Given the description of an element on the screen output the (x, y) to click on. 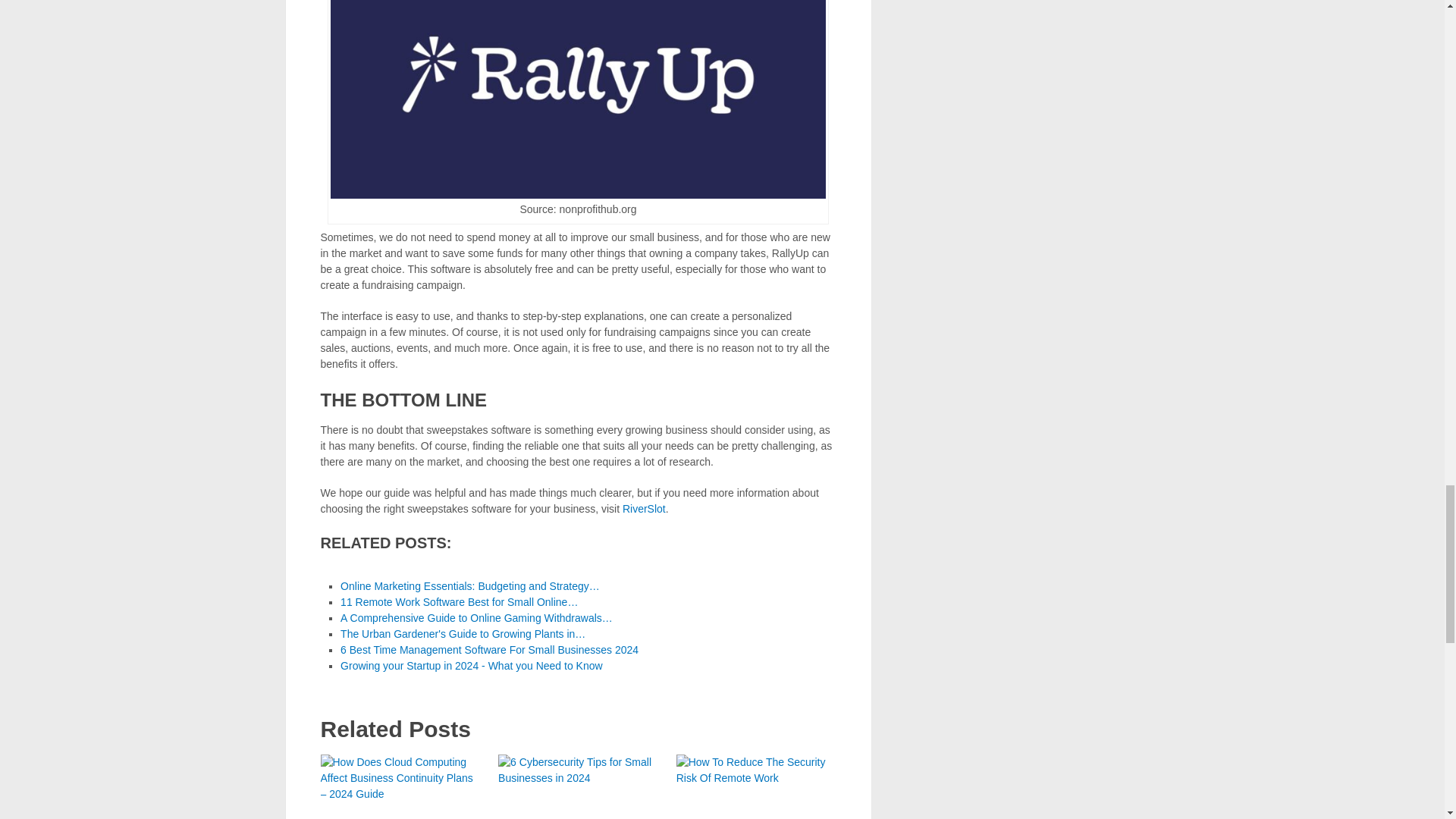
Growing your Startup in 2024 - What you Need to Know (471, 665)
6 Best Time Management Software For Small Businesses 2024 (489, 649)
6 Cybersecurity Tips for Small Businesses in 2024 (577, 786)
How To Reduce The Security Risk Of Remote Work (756, 786)
RiverSlot (644, 508)
